Given the description of an element on the screen output the (x, y) to click on. 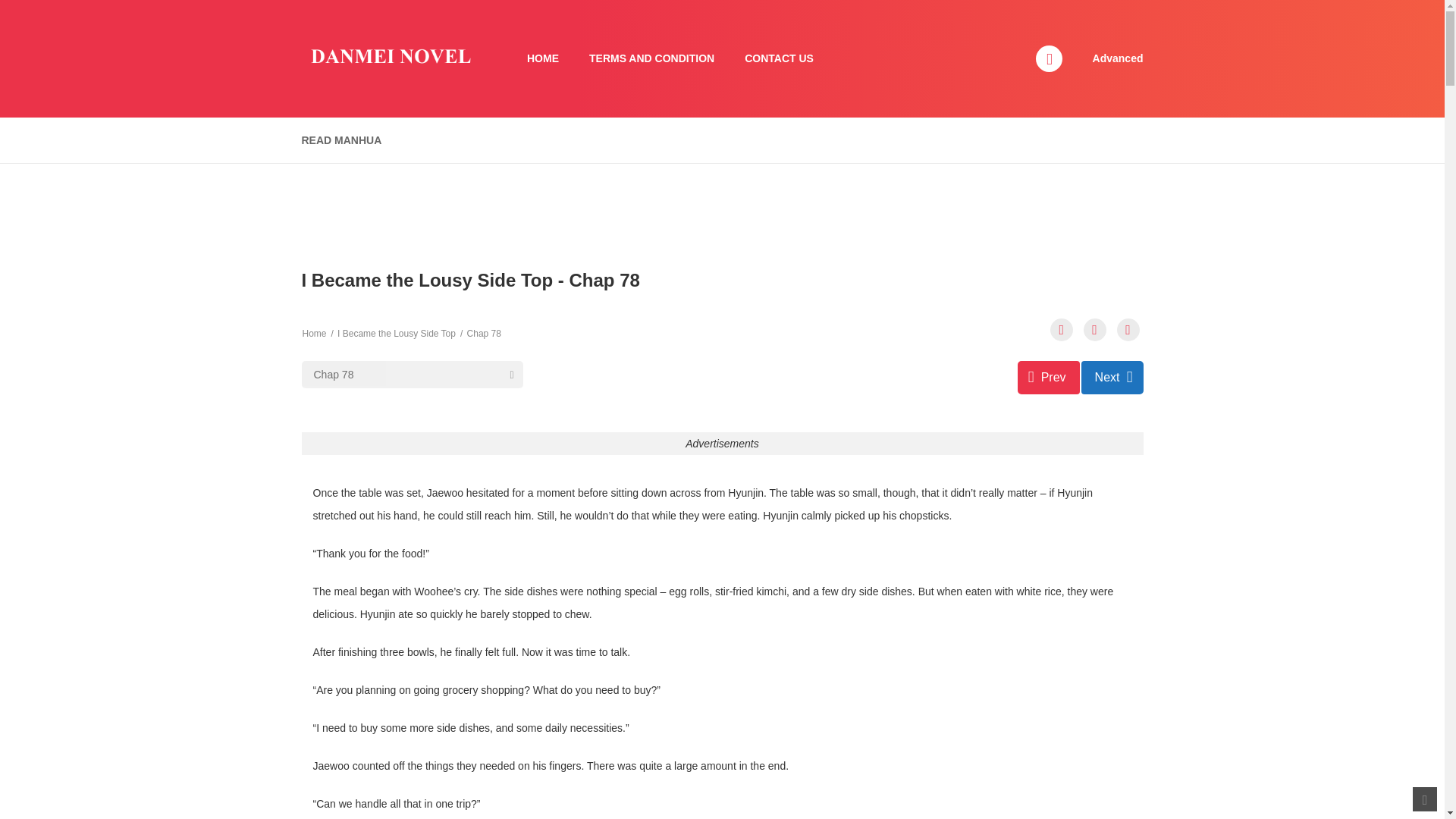
CONTACT US (778, 58)
Advanced (1117, 58)
Danmei Novels (389, 57)
Chap 77 (1048, 377)
Search (970, 9)
Chap 79 (1111, 377)
Home (313, 333)
TERMS AND CONDITION (651, 58)
Prev (1048, 377)
I Became the Lousy Side Top (396, 333)
